Given the description of an element on the screen output the (x, y) to click on. 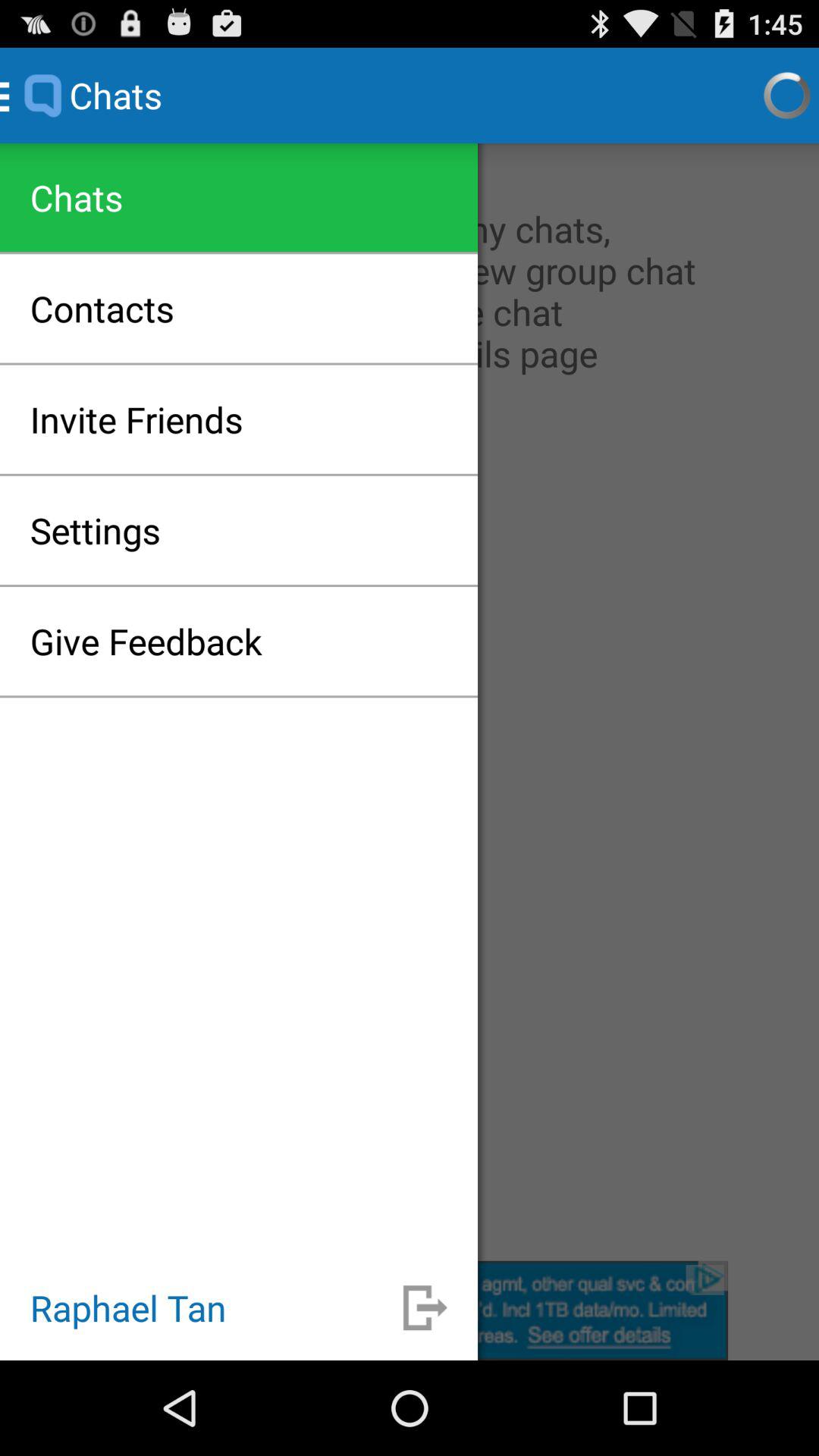
scroll to invite friends (136, 419)
